Given the description of an element on the screen output the (x, y) to click on. 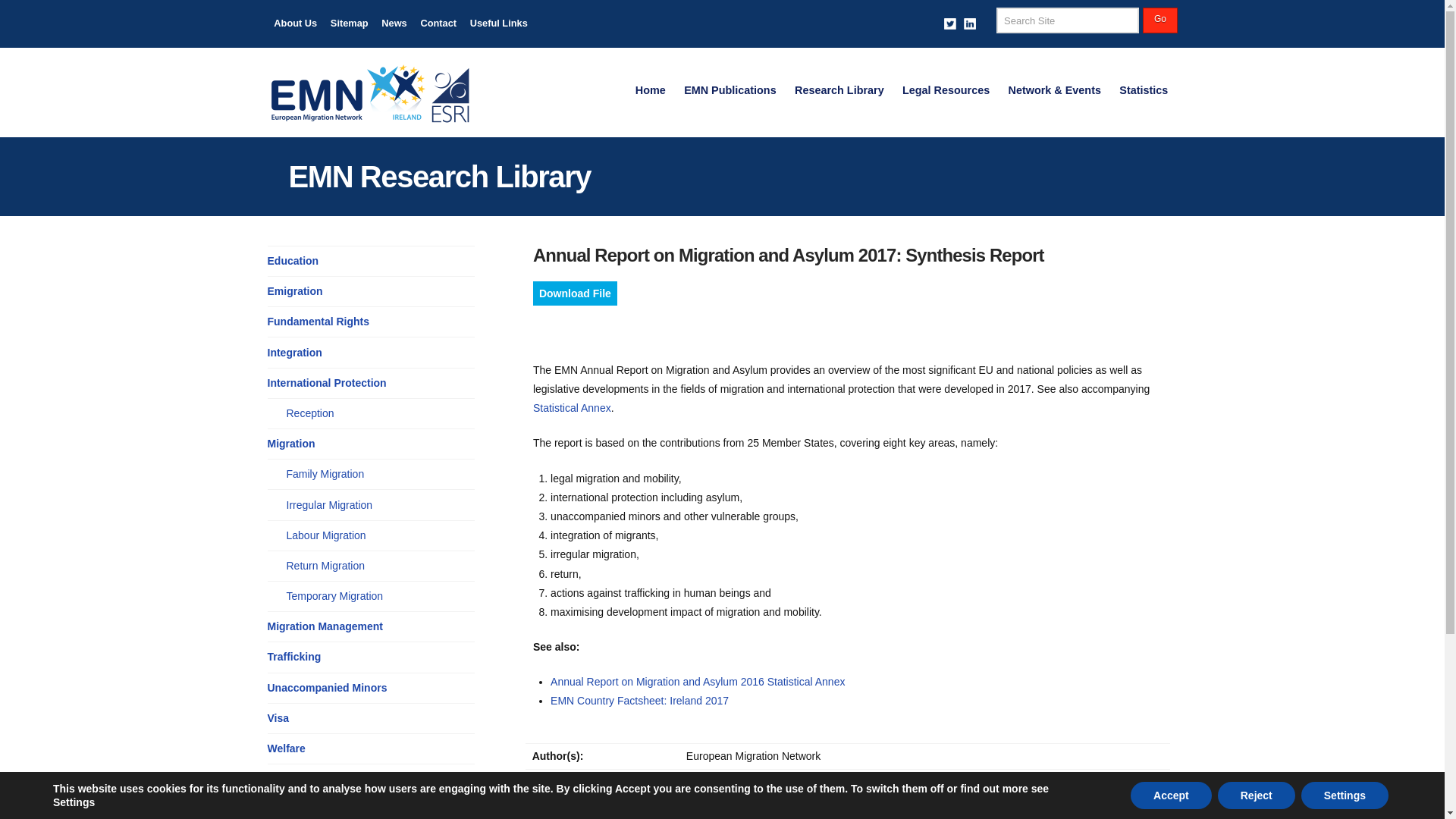
Country factsheet IReland (639, 700)
Irregular Migration (329, 505)
EMN Country Factsheet: Ireland 2017 (639, 700)
Contact (438, 23)
Download File (574, 293)
Research Library (839, 90)
Reception (310, 413)
Labour Migration (326, 535)
Statistical annex (697, 681)
Migration (290, 443)
Legal Resources (945, 90)
Statistics (1142, 90)
Migration Management (323, 626)
Home (650, 90)
Statistical annex (571, 408)
